Given the description of an element on the screen output the (x, y) to click on. 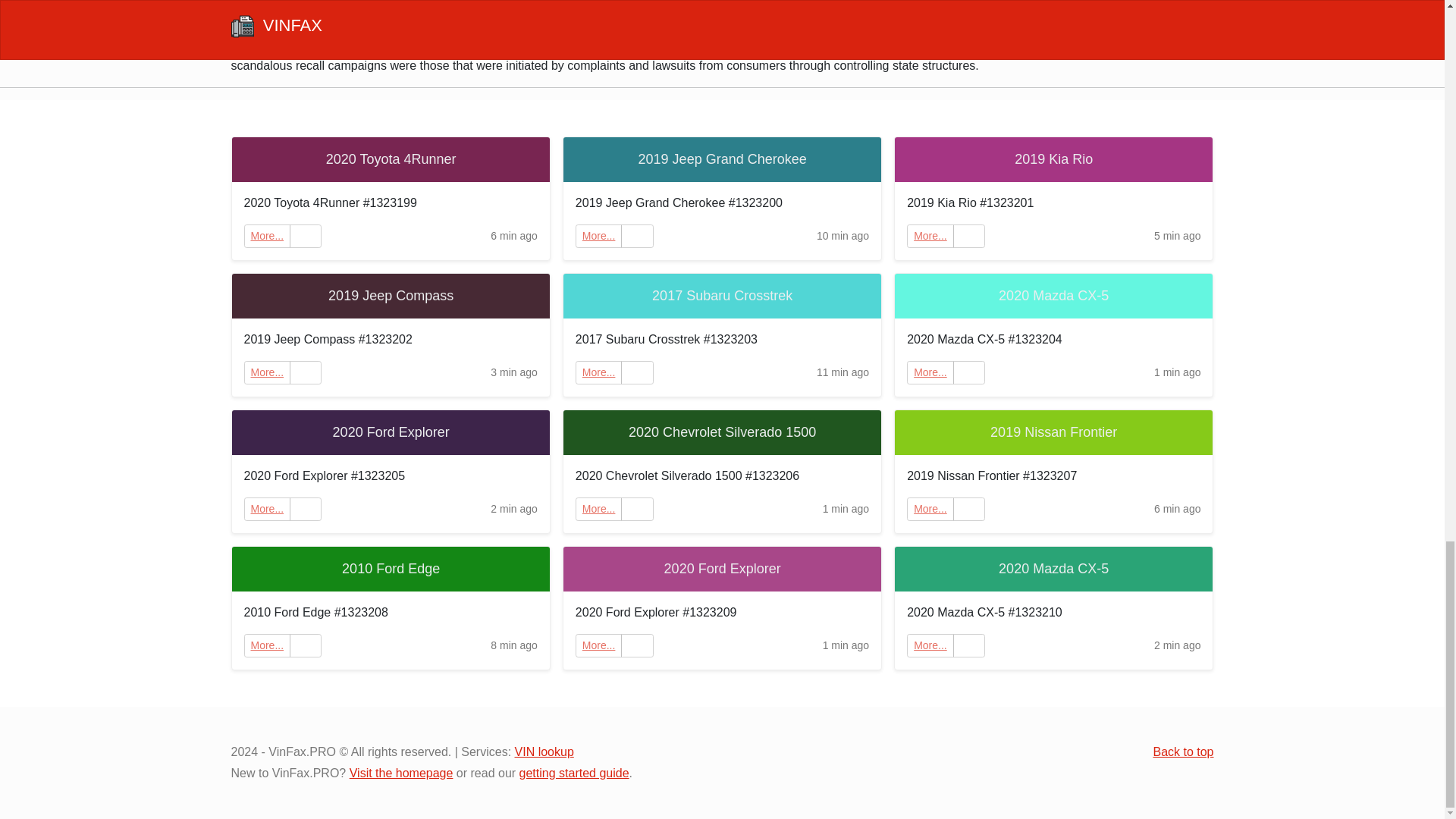
More... (599, 372)
More... (930, 236)
More... (930, 372)
Edit (305, 236)
Edit (636, 236)
2020 Chevrolet Silverado 1500 (721, 432)
Edit (636, 372)
2019 Kia FORTE problems (317, 47)
2019 Kia FORTE recalls (500, 10)
Edit (305, 372)
More... (599, 236)
Edit (636, 508)
More... (266, 372)
2019 Kia FORTE problems (317, 47)
More... (598, 235)
